Given the description of an element on the screen output the (x, y) to click on. 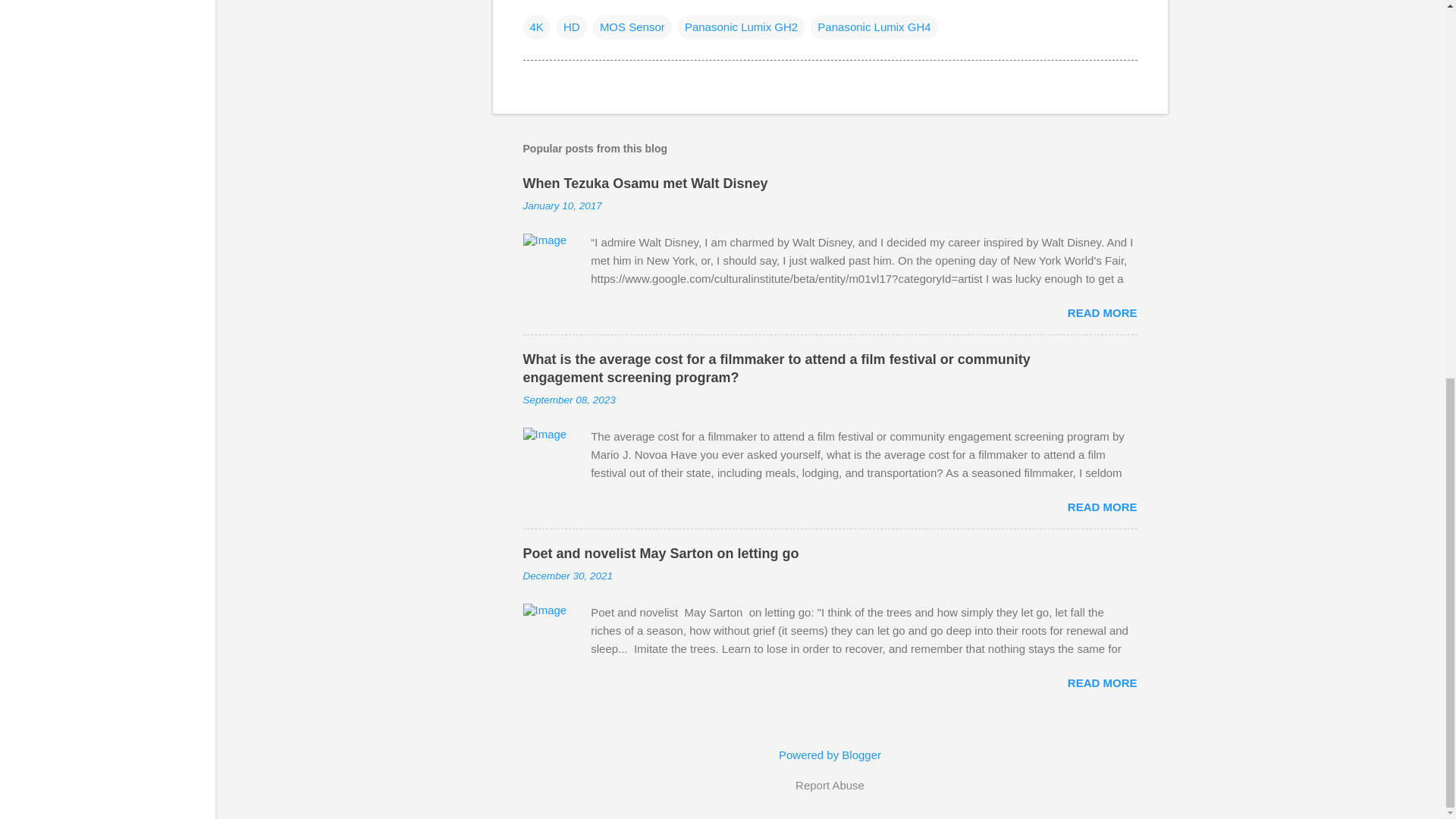
Report Abuse (829, 785)
Panasonic Lumix GH2 (741, 27)
Poet and novelist May Sarton on letting go (660, 553)
READ MORE (1102, 682)
Powered by Blogger (829, 754)
4K (536, 27)
MOS Sensor (631, 27)
January 10, 2017 (562, 205)
Panasonic Lumix GH4 (873, 27)
